Given the description of an element on the screen output the (x, y) to click on. 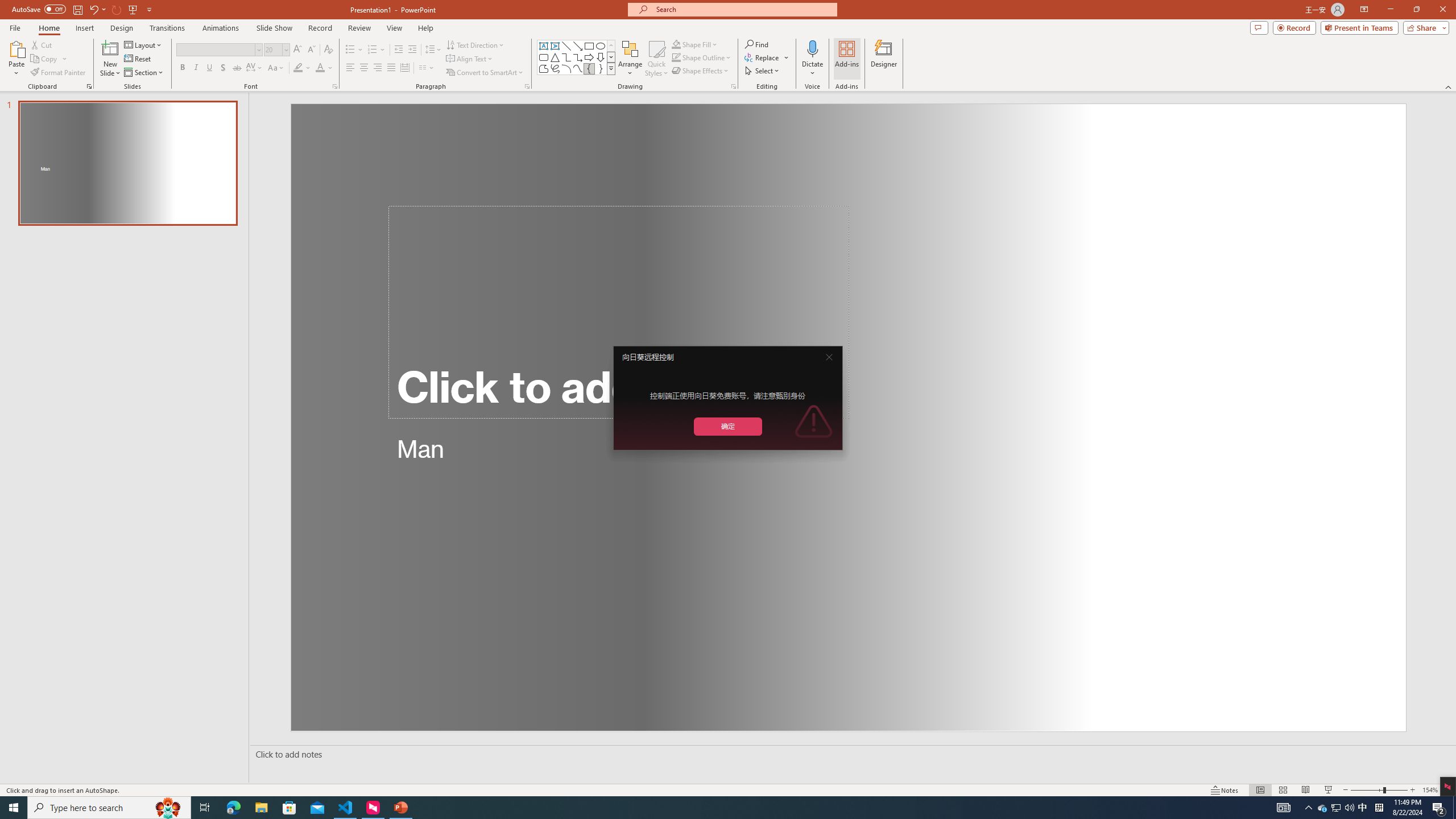
Zoom 154% (1430, 790)
